Given the description of an element on the screen output the (x, y) to click on. 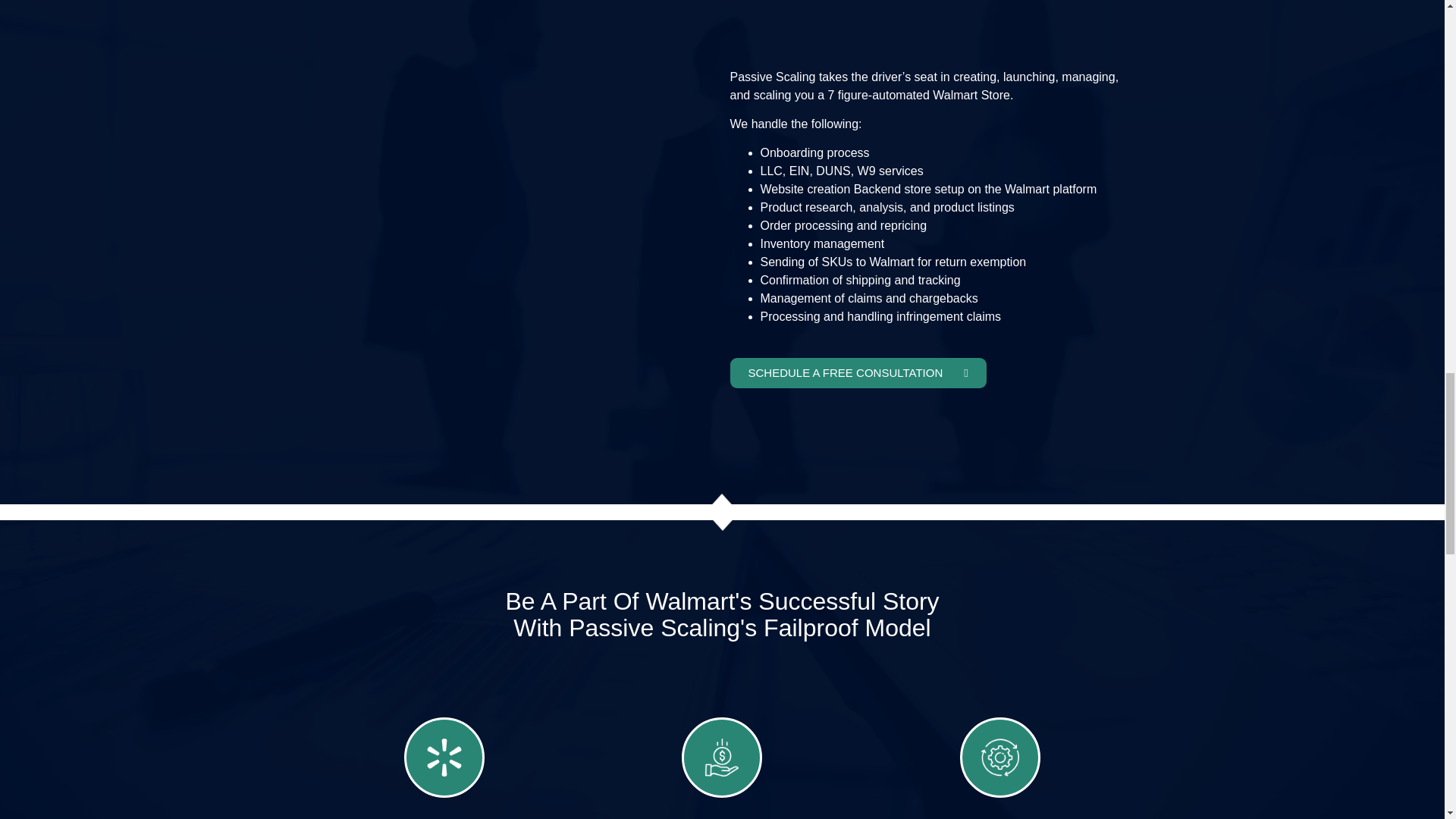
SCHEDULE A FREE CONSULTATION (857, 372)
